Given the description of an element on the screen output the (x, y) to click on. 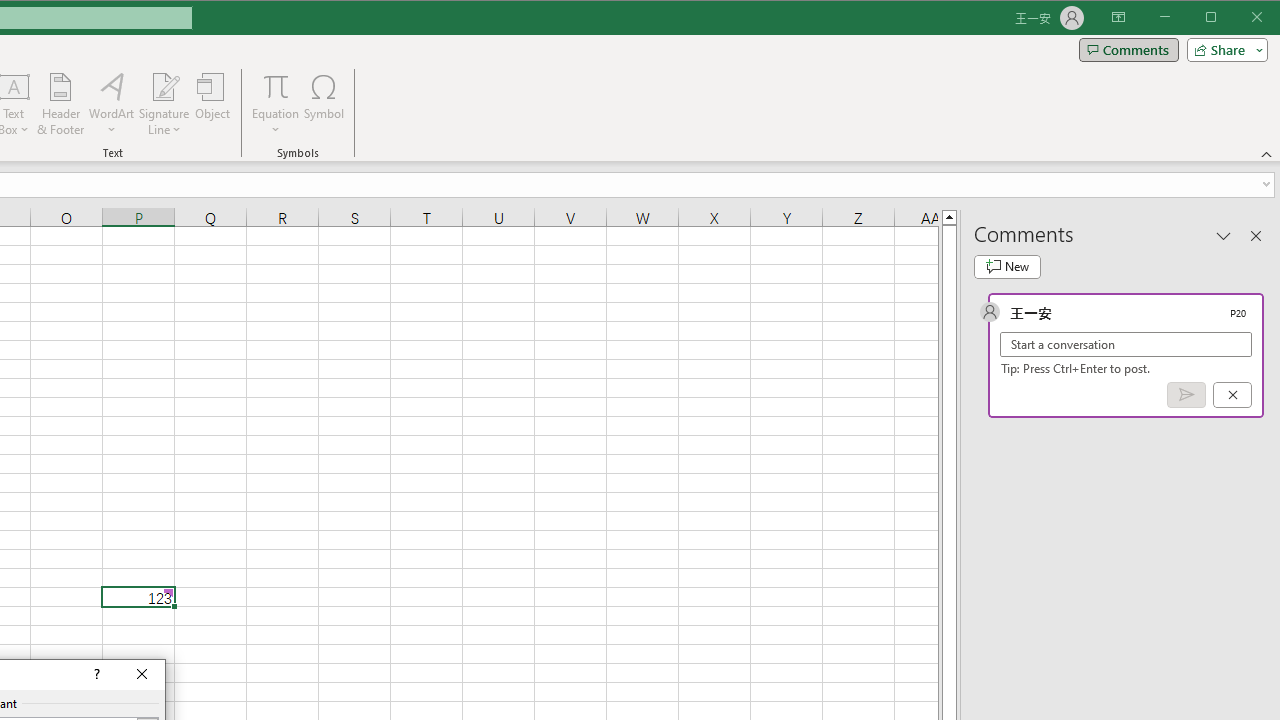
Equation (275, 86)
Signature Line (164, 86)
Cancel (1232, 395)
Maximize (1239, 18)
Context help (95, 674)
Symbol... (324, 104)
